Given the description of an element on the screen output the (x, y) to click on. 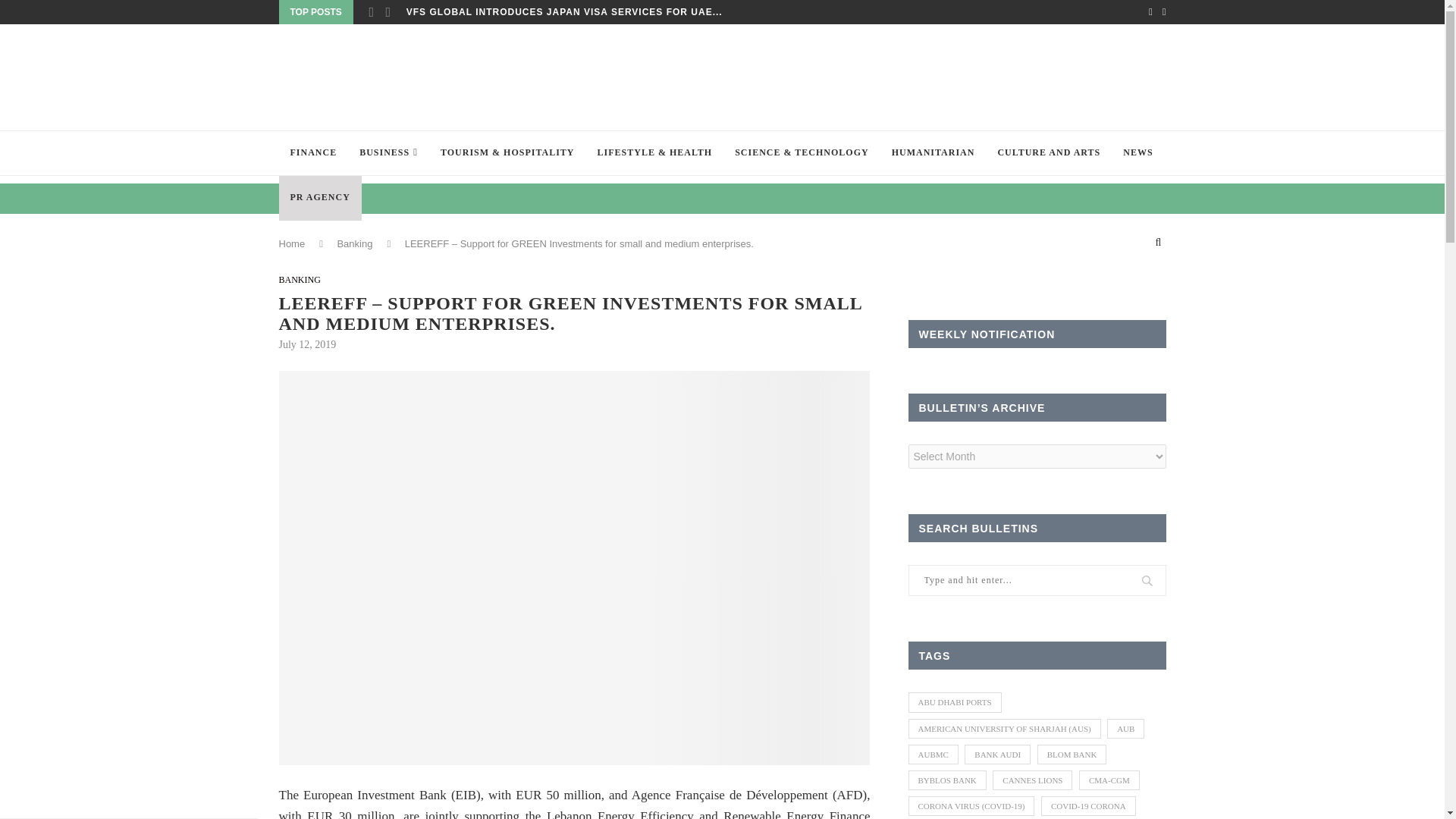
VFS GLOBAL INTRODUCES JAPAN VISA SERVICES FOR UAE... (564, 12)
